Given the description of an element on the screen output the (x, y) to click on. 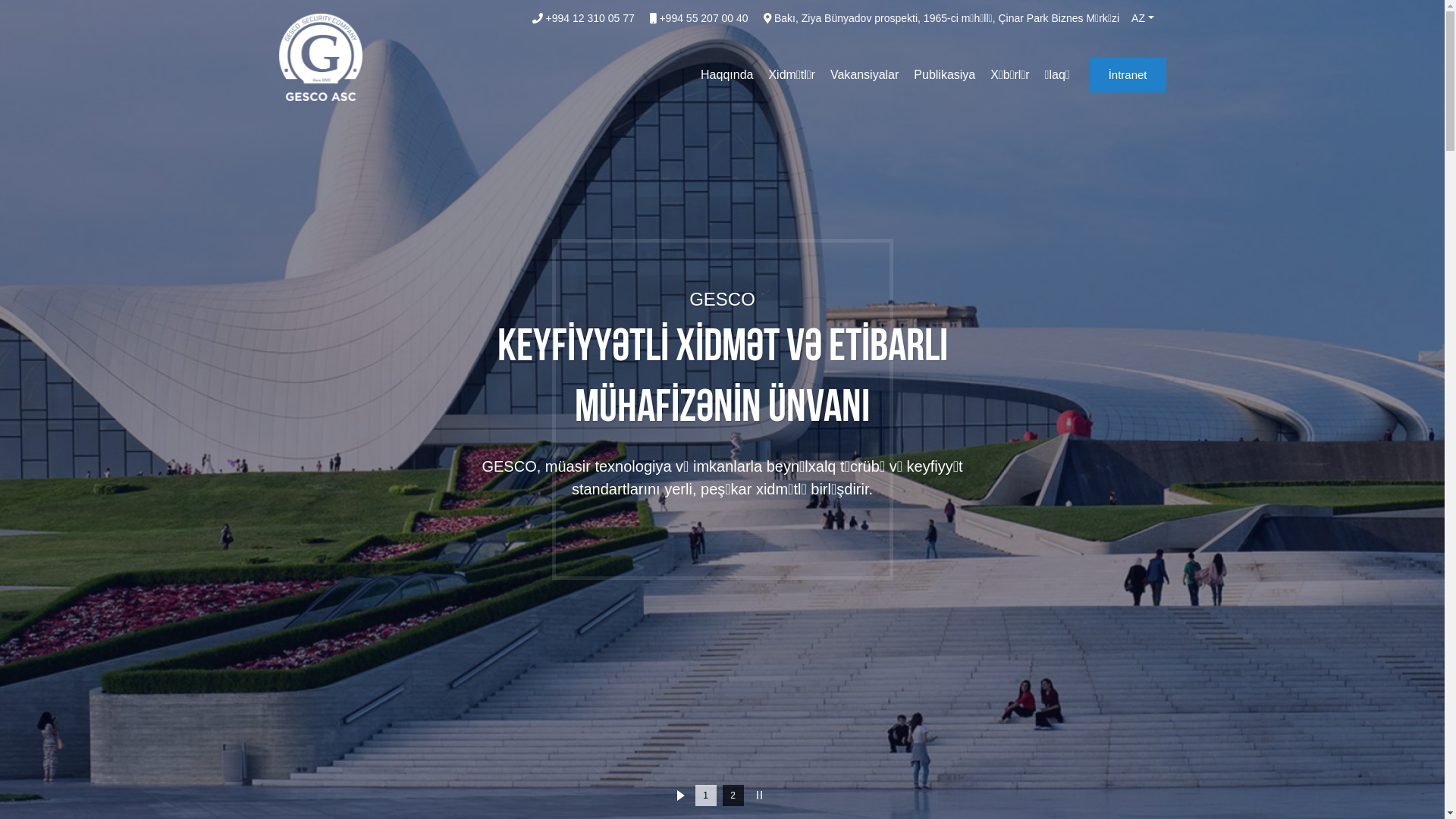
+994 55 207 00 40 Element type: text (698, 18)
+994 12 310 05 77 Element type: text (583, 18)
Vakansiyalar Element type: text (864, 74)
Publikasiya Element type: text (944, 74)
